Given the description of an element on the screen output the (x, y) to click on. 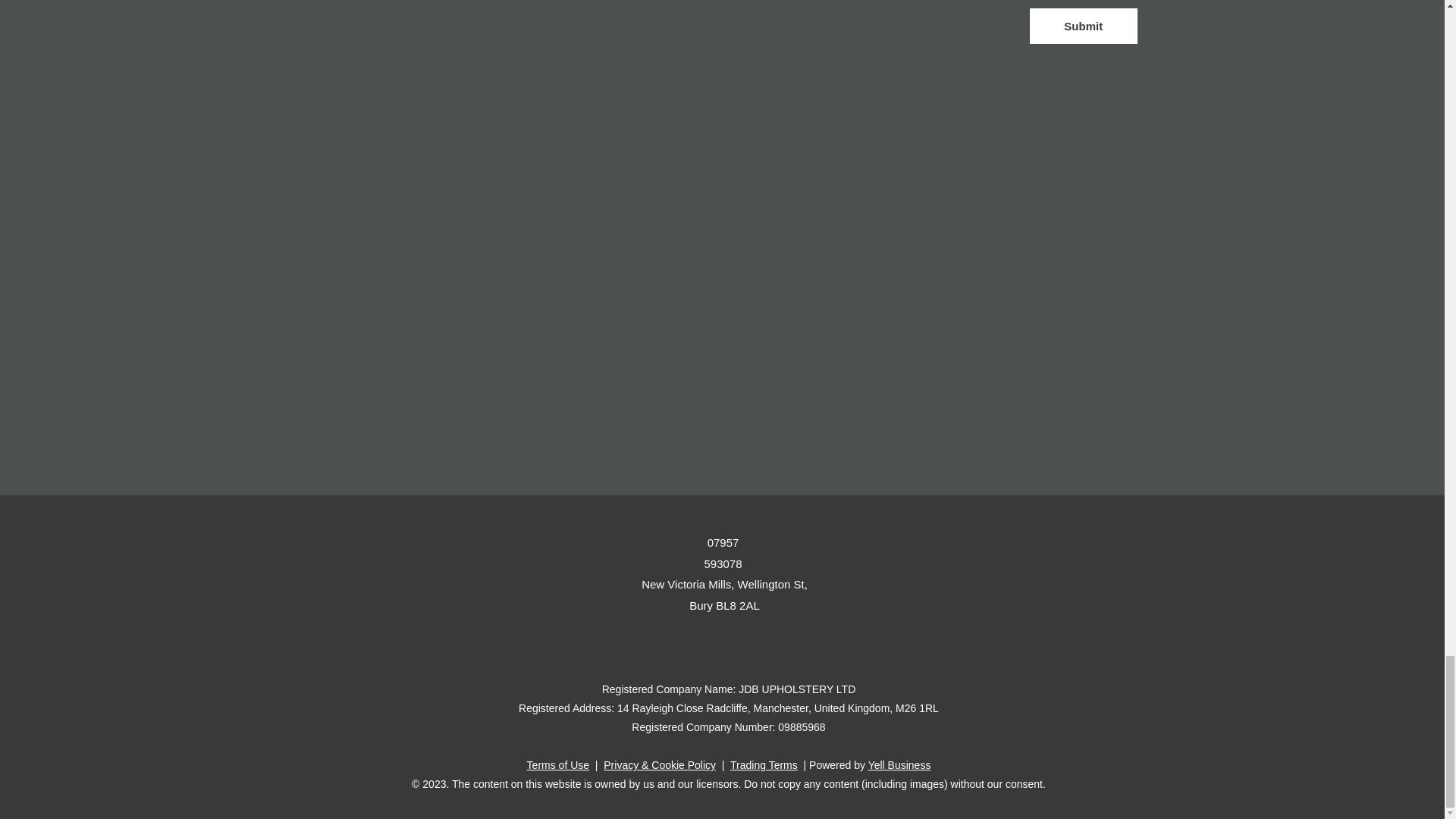
Submit (1083, 26)
Terms of Use (558, 765)
Trading Terms (763, 765)
Yell Business (899, 765)
